Given the description of an element on the screen output the (x, y) to click on. 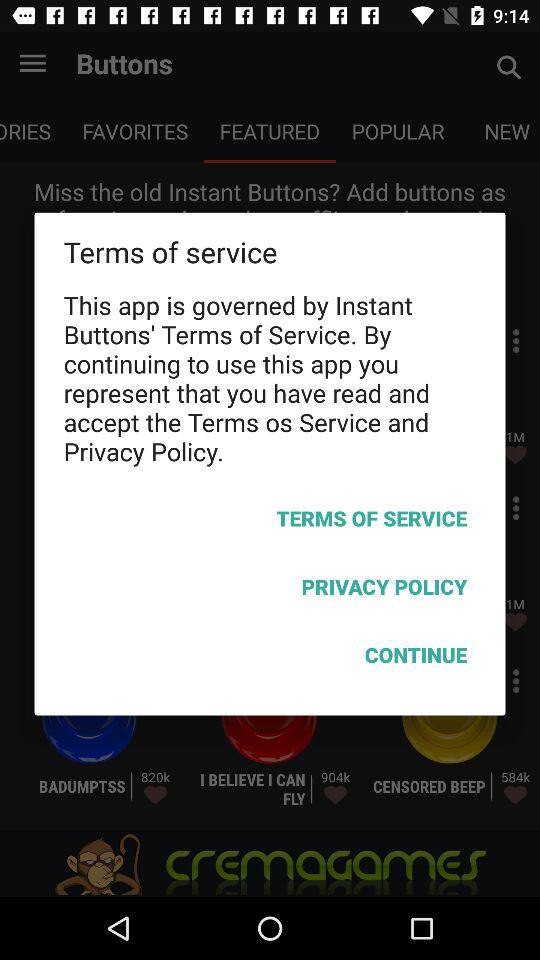
turn on icon below the terms of service (269, 590)
